Given the description of an element on the screen output the (x, y) to click on. 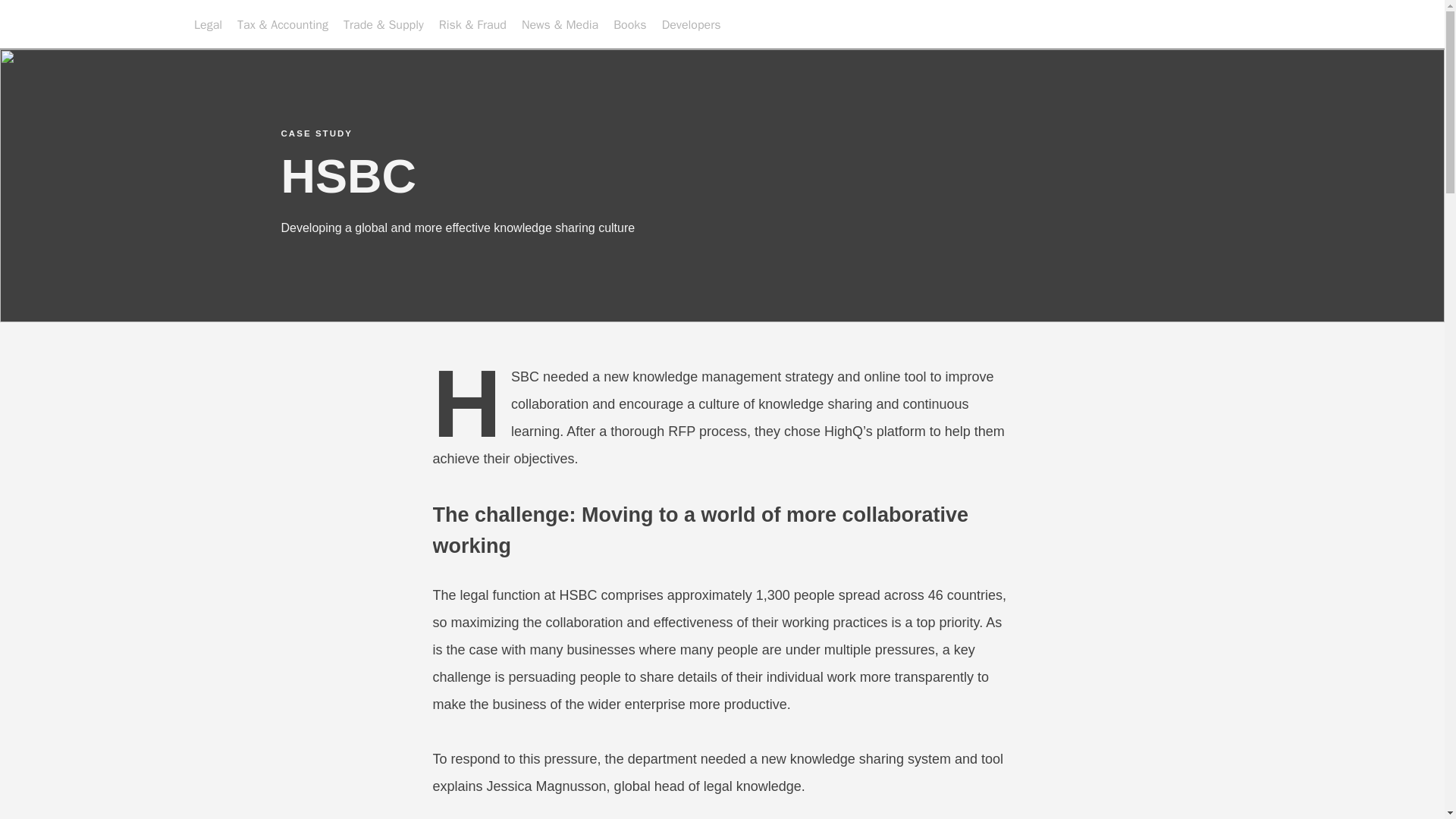
Legal (208, 24)
Developers (691, 24)
Books (629, 24)
